Given the description of an element on the screen output the (x, y) to click on. 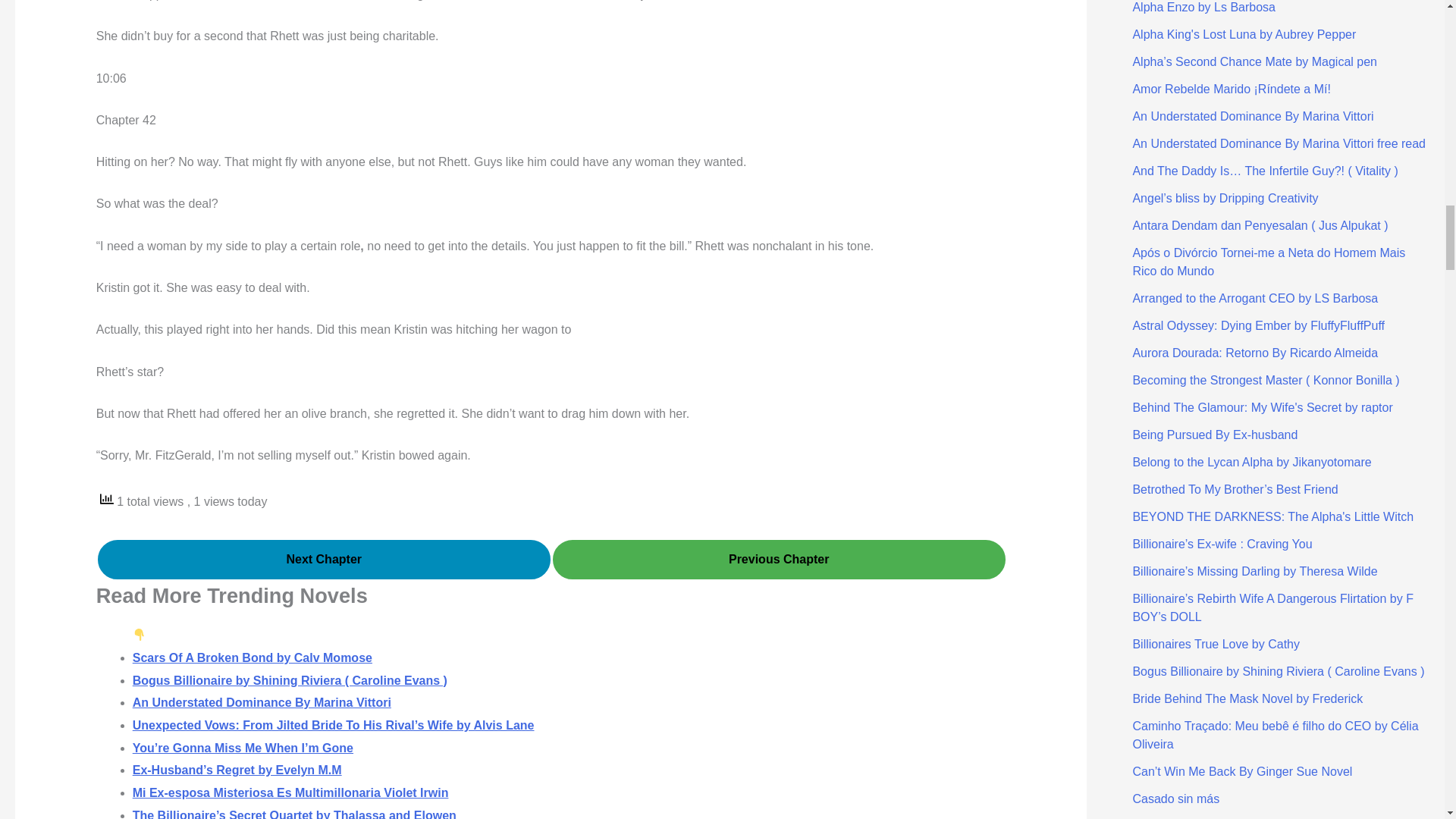
An Understated Dominance By Marina Vittori (261, 702)
Scars Of A Broken Bond by Calv Momose (252, 657)
Next Chapter (323, 559)
Next Chapter (323, 558)
Previous Chapter (779, 558)
Previous Chapter (779, 559)
